Given the description of an element on the screen output the (x, y) to click on. 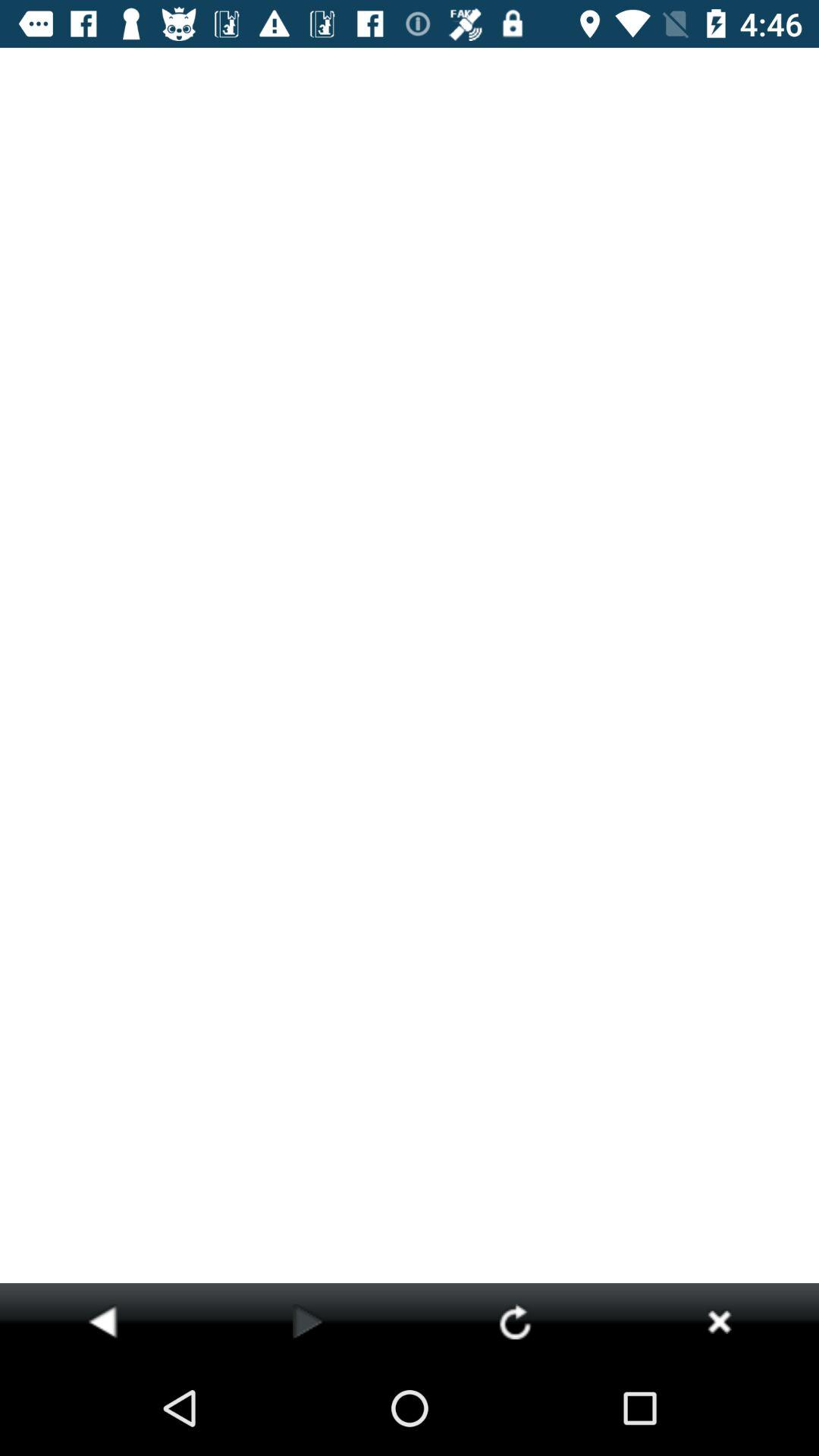
choose item at the center (409, 665)
